Given the description of an element on the screen output the (x, y) to click on. 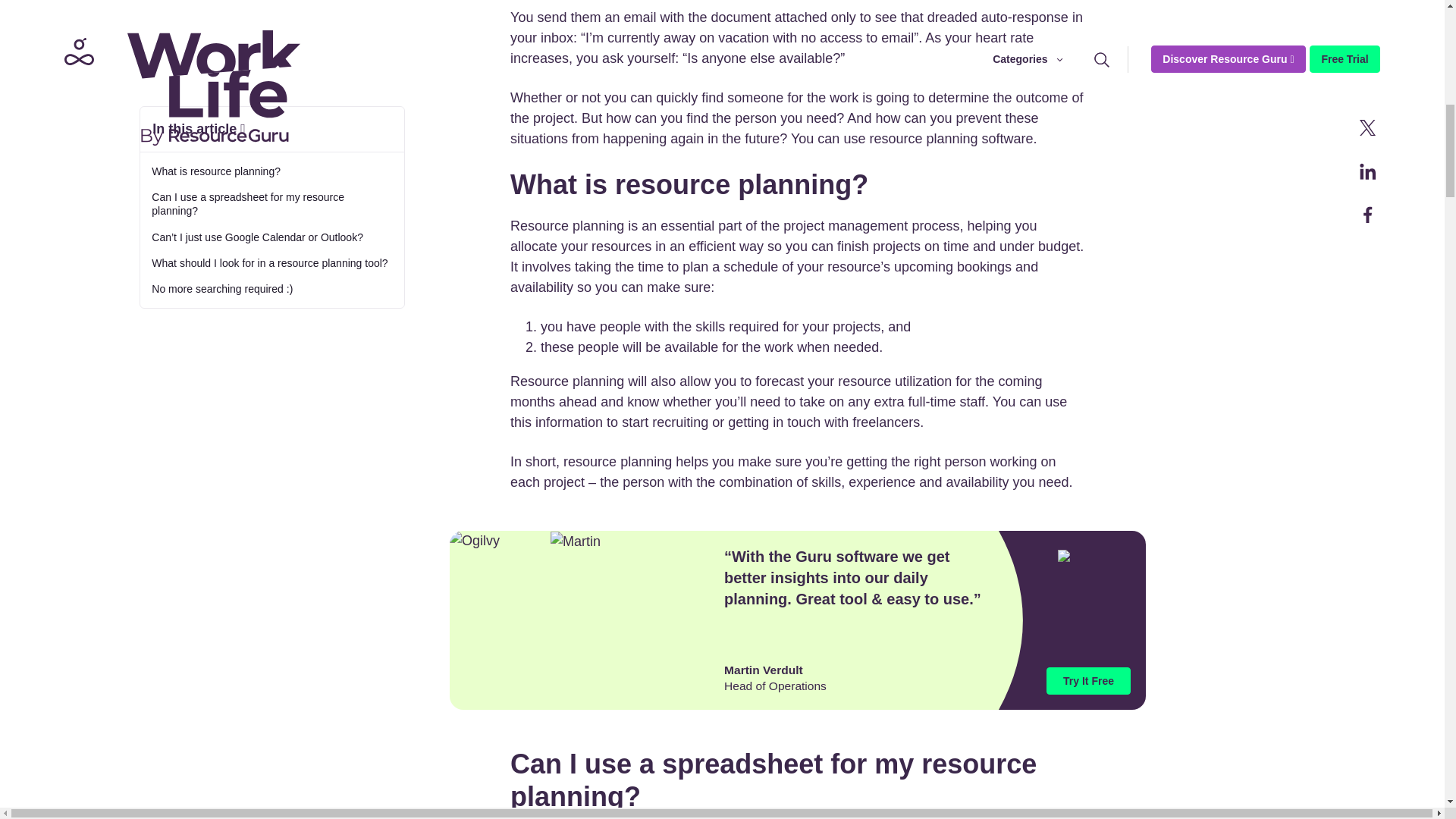
Can I use a spreadsheet for my resource planning? (271, 45)
Can I use a spreadsheet for my resource planning? (271, 45)
What should I look for in a resource planning tool? (271, 104)
Try It Free (1088, 680)
What is resource planning? (271, 12)
What is resource planning? (271, 12)
What should I look for in a resource planning tool? (271, 104)
